Given the description of an element on the screen output the (x, y) to click on. 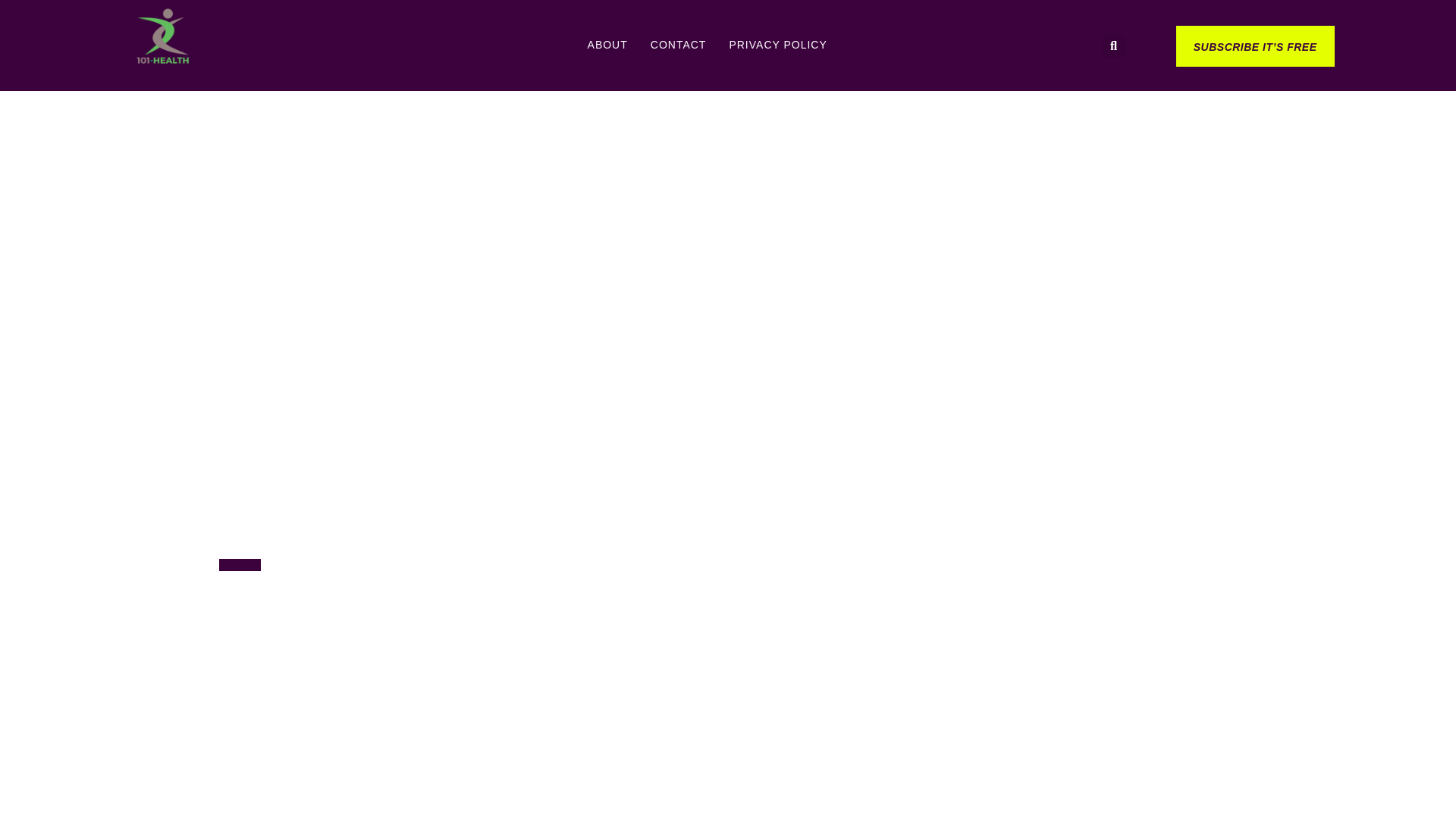
ABOUT (607, 44)
PRIVACY POLICY (778, 44)
CONTACT (678, 44)
